Given the description of an element on the screen output the (x, y) to click on. 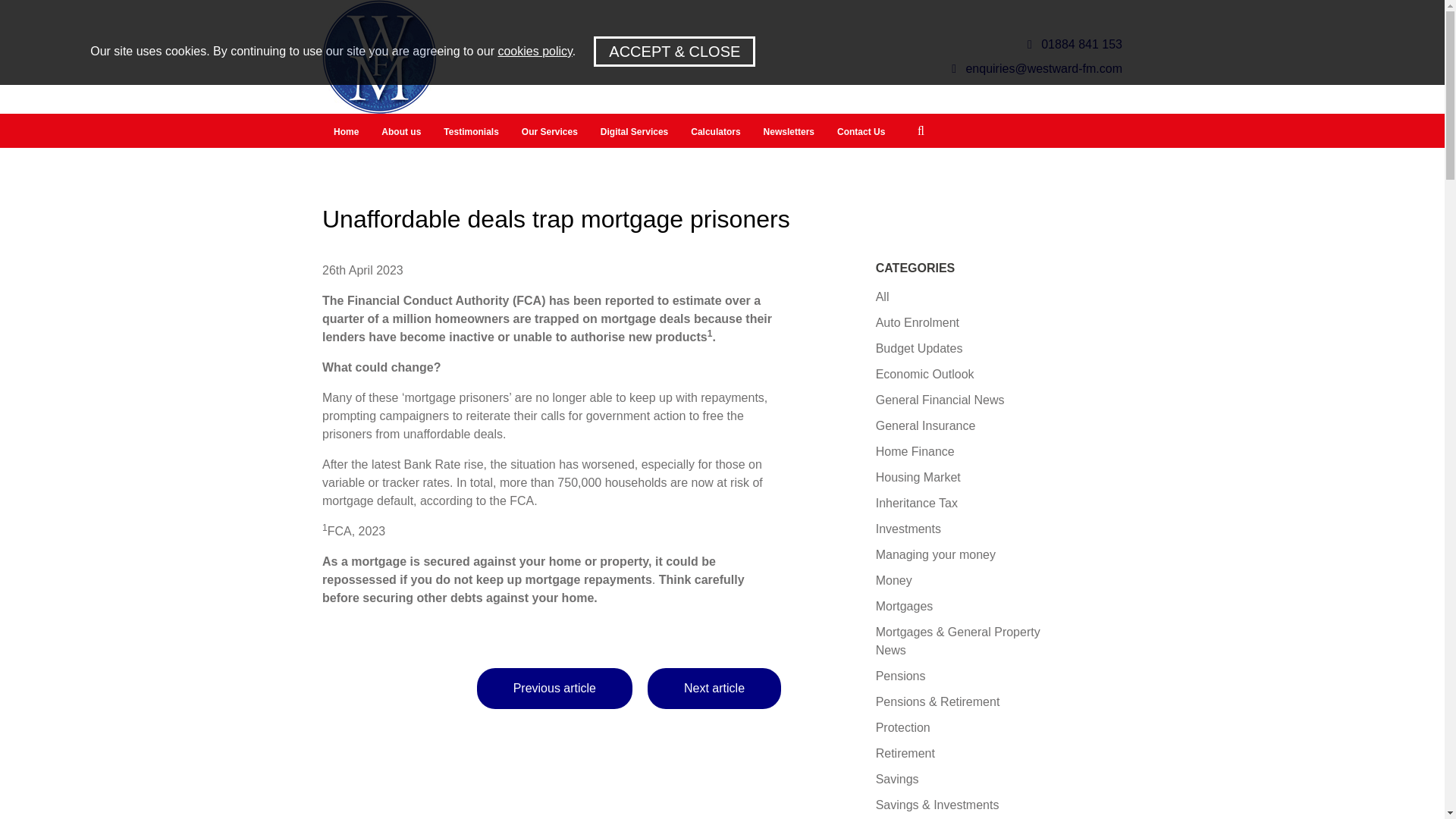
All (882, 296)
Investments (908, 528)
Pensions (901, 675)
Home Finance (915, 451)
Digital Services (634, 131)
Retirement (905, 753)
Newsletters (788, 131)
Testimonials (470, 131)
Calculators (715, 131)
Housing Market (918, 477)
Protection (903, 727)
Inheritance Tax (917, 502)
Previous article (554, 688)
Managing your money (935, 554)
Our Services (550, 131)
